Given the description of an element on the screen output the (x, y) to click on. 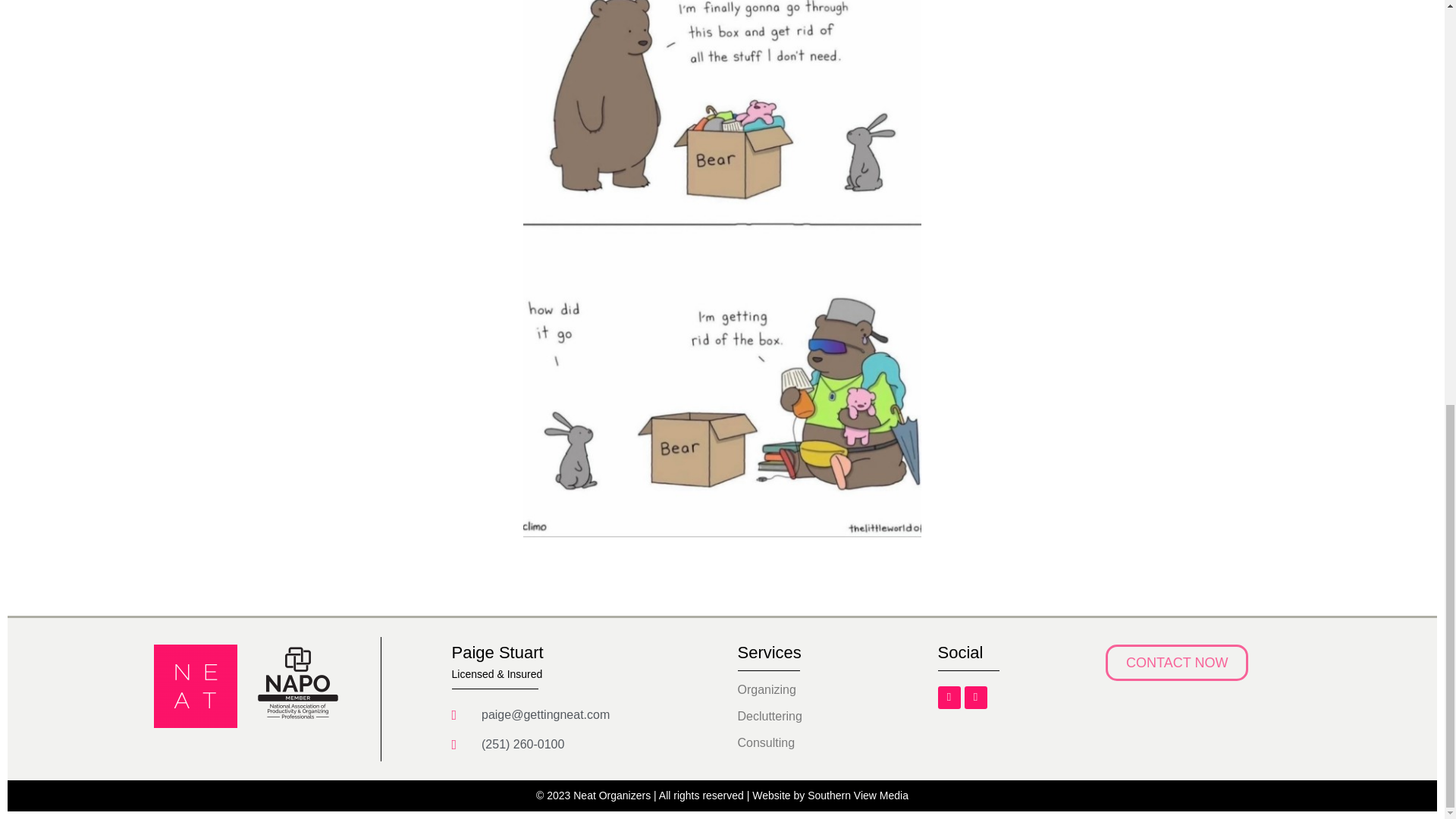
Consulting (812, 743)
CONTACT NOW (1176, 662)
Organizing (812, 689)
NEAT-BLACKSUB (193, 686)
Southern View Media (858, 795)
Decluttering (812, 716)
